Given the description of an element on the screen output the (x, y) to click on. 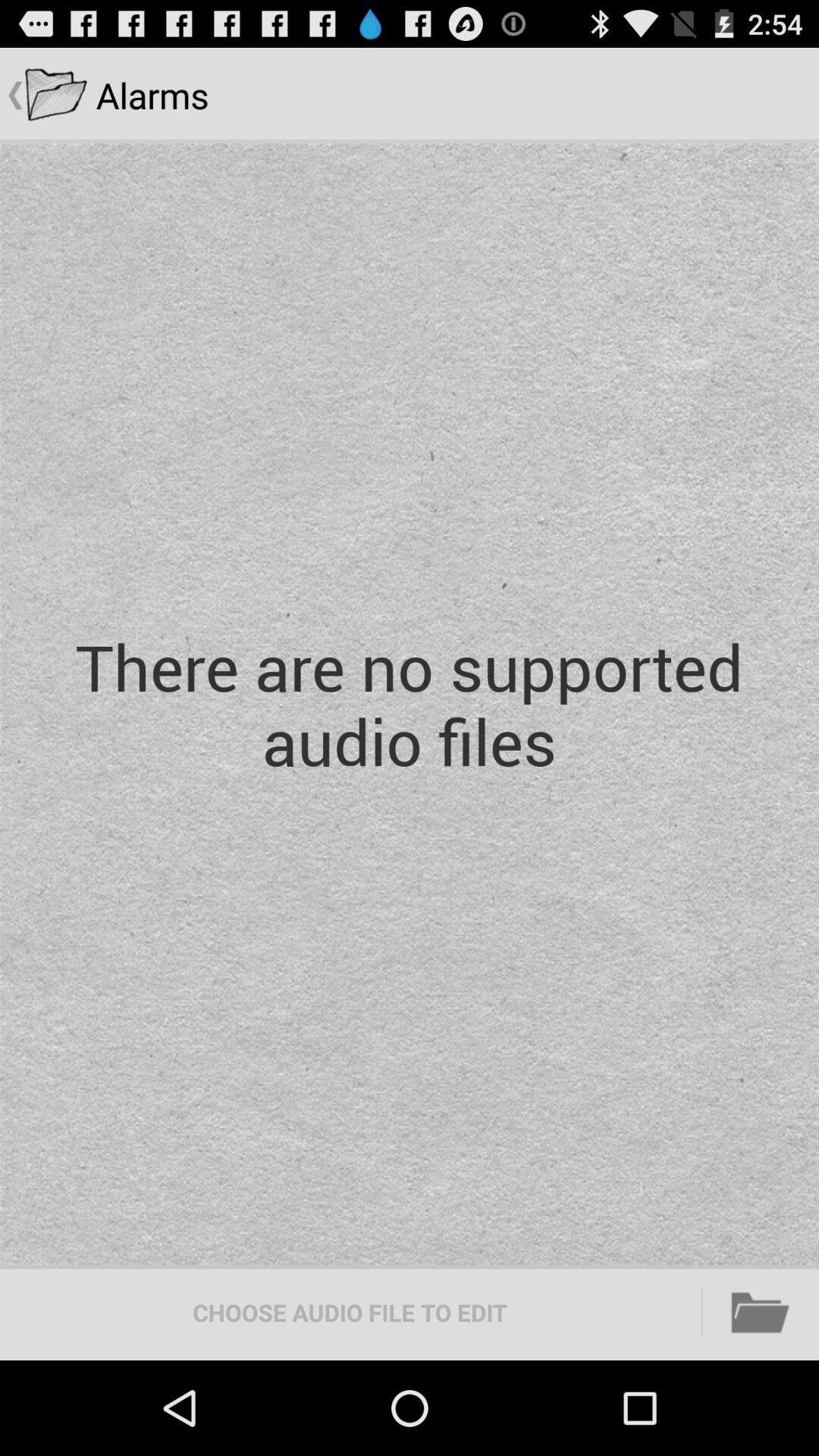
open item next to the choose audio file icon (760, 1312)
